Given the description of an element on the screen output the (x, y) to click on. 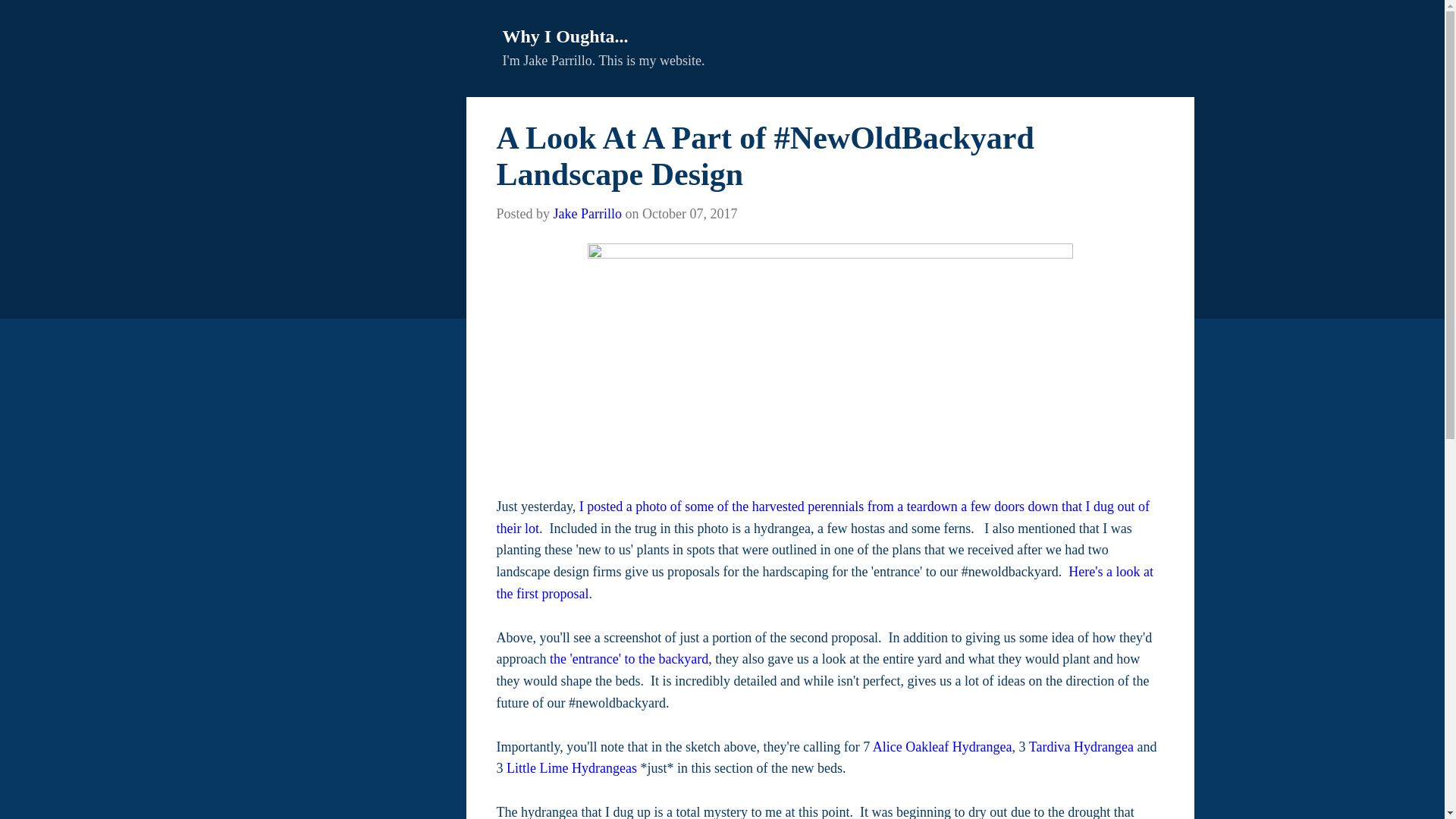
Here's a look at the first proposal (824, 582)
Jake Parrillo (587, 213)
permanent link (689, 213)
the 'entrance' to the backyard (628, 658)
Tardiva Hydrangea (1081, 746)
Why I Oughta... (564, 35)
Search (34, 18)
October 07, 2017 (689, 213)
Alice Oakleaf Hydrangea (941, 746)
author profile (587, 213)
Little Lime Hydrangeas (571, 767)
